Given the description of an element on the screen output the (x, y) to click on. 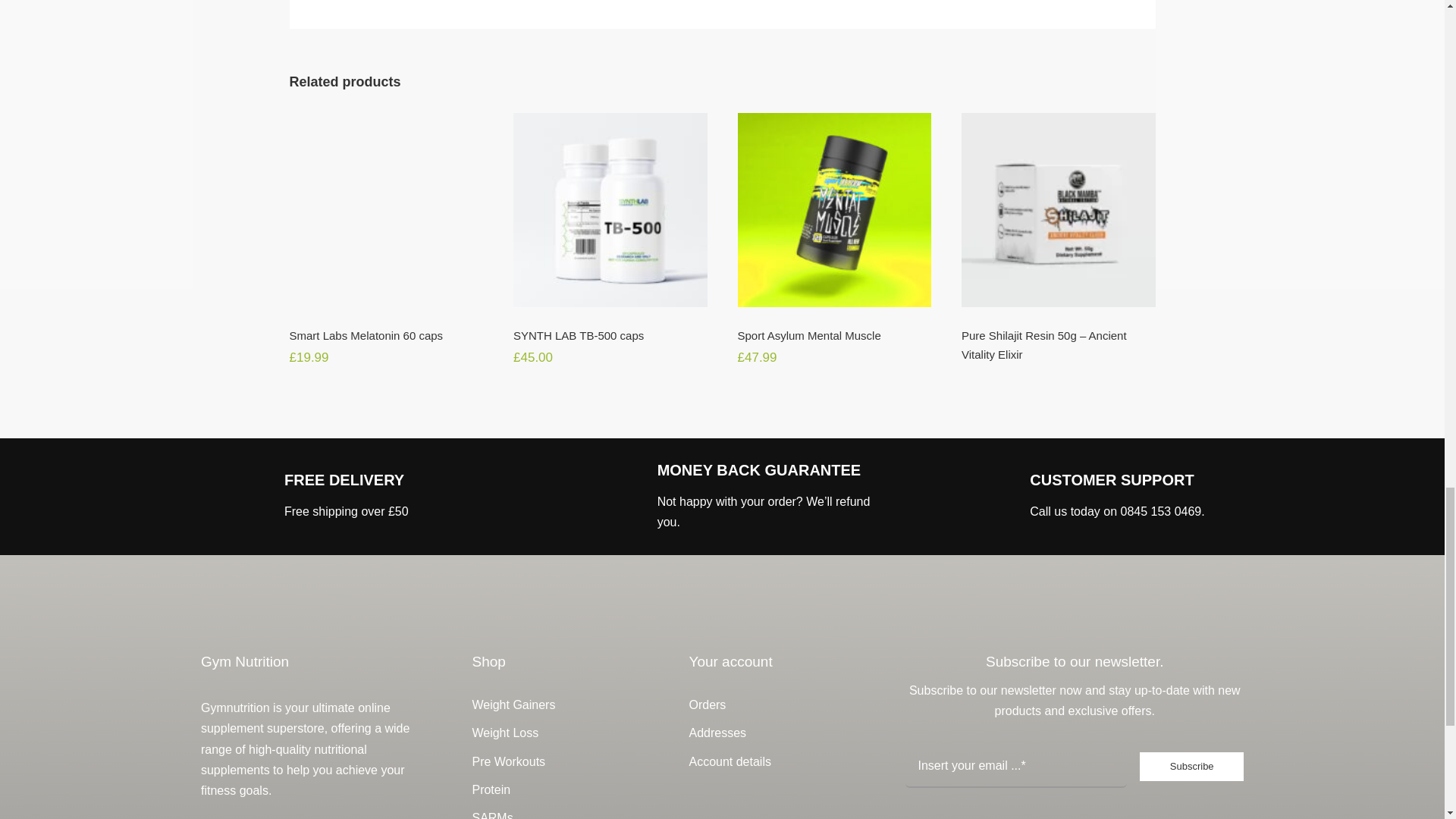
Subscribe (1074, 774)
